Given the description of an element on the screen output the (x, y) to click on. 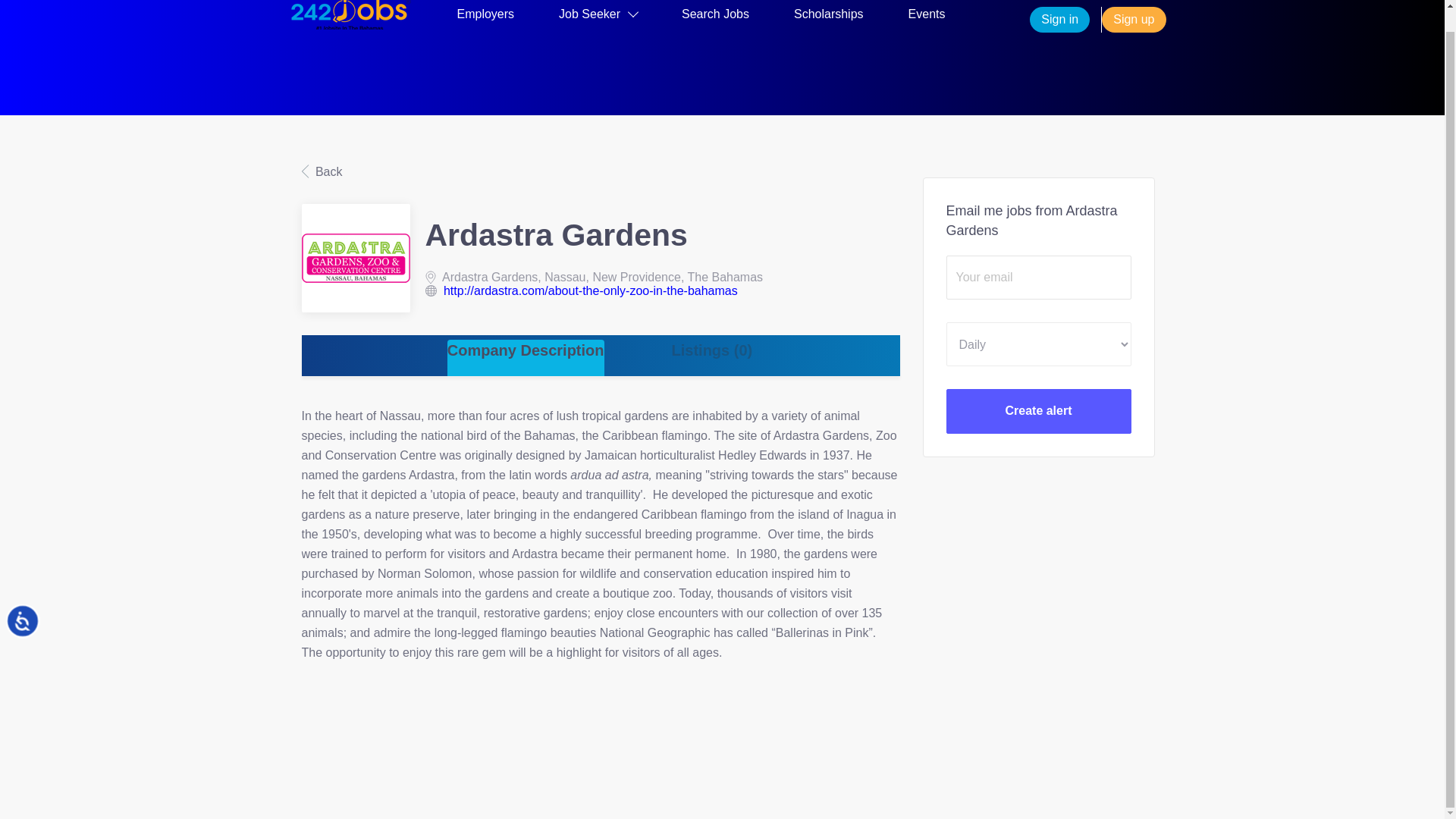
Scholarships (828, 16)
Sign in (1059, 19)
Company Description (525, 357)
Accessibility (39, 615)
Employers (484, 16)
Sign up (1134, 19)
Create alert (1038, 411)
Search Jobs (715, 16)
Events (927, 16)
Back (321, 171)
Create alert (1038, 411)
Job Seeker (598, 16)
